Given the description of an element on the screen output the (x, y) to click on. 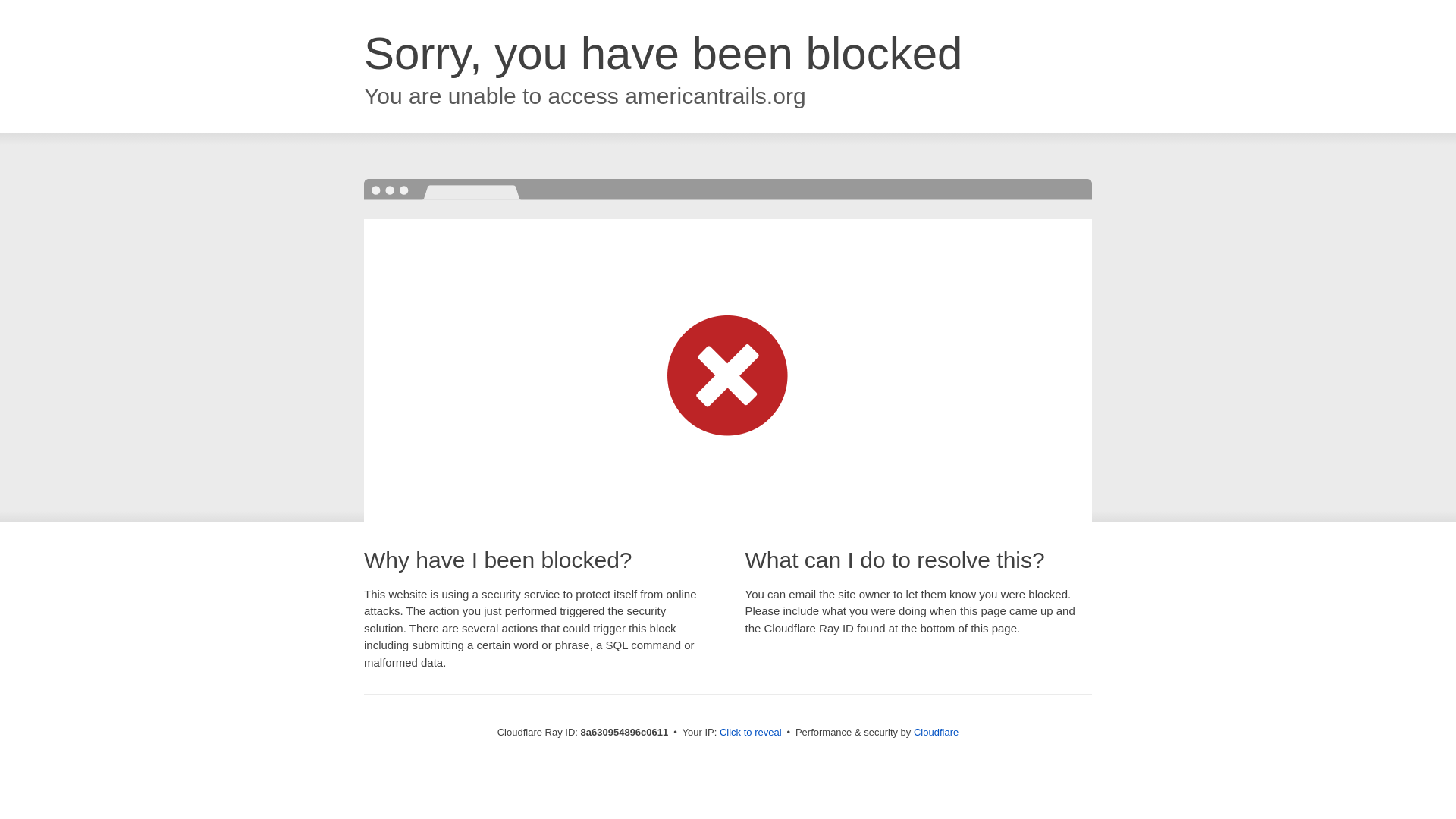
Click to reveal (750, 732)
Cloudflare (936, 731)
